Given the description of an element on the screen output the (x, y) to click on. 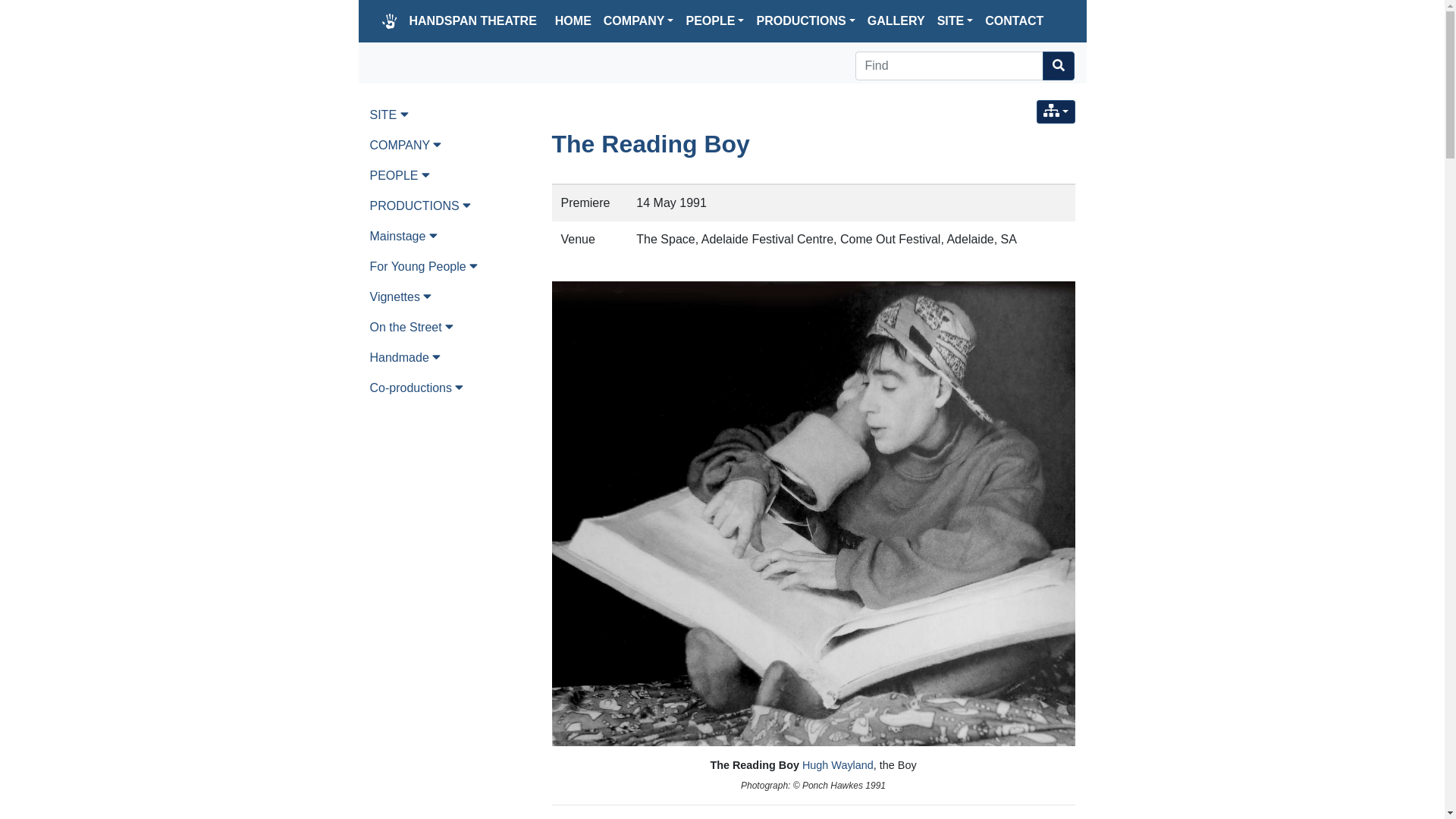
PRODUCTIONS  Element type: text (449, 206)
Structures Element type: hover (1055, 111)
PEOPLE Element type: text (714, 21)
Hugh Wayland Element type: text (837, 765)
COMPANY Element type: text (638, 21)
Handmade  Element type: text (449, 357)
SITE  Element type: text (449, 115)
Mainstage  Element type: text (449, 236)
HOME Element type: text (573, 21)
On the Street  Element type: text (449, 327)
PRODUCTIONS Element type: text (804, 21)
Co-productions  Element type: text (449, 388)
GALLERY Element type: text (896, 21)
Vignettes  Element type: text (449, 297)
For Young People  Element type: text (449, 266)
HANDSPAN THEATRE Element type: text (472, 21)
PEOPLE  Element type: text (449, 175)
COMPANY  Element type: text (449, 145)
CONTACT Element type: text (1014, 21)
The Reading Boy Element type: text (650, 143)
SITE Element type: text (955, 21)
